Given the description of an element on the screen output the (x, y) to click on. 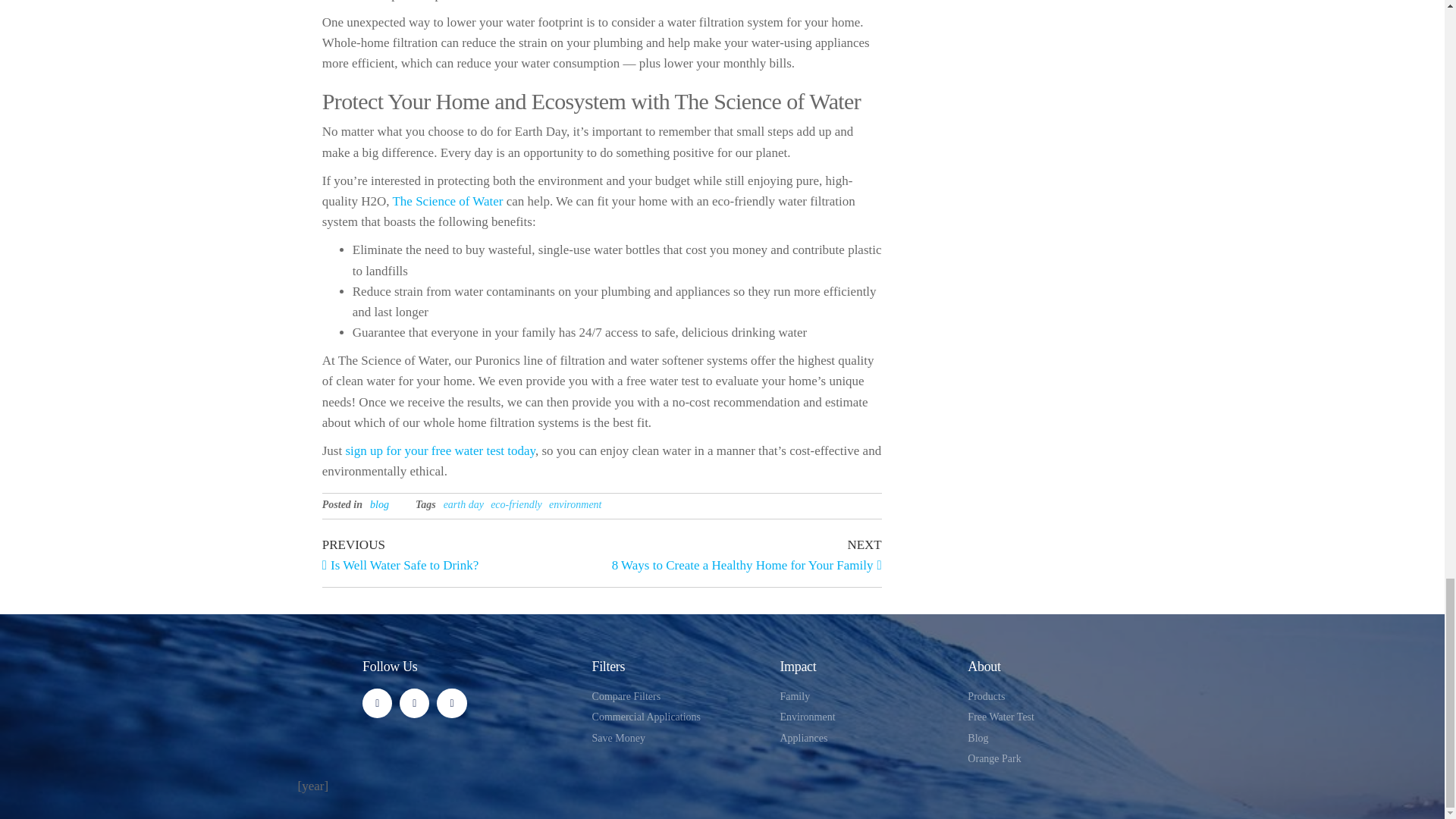
earth day (463, 504)
sign up for your free water test today (440, 450)
Blog (1053, 738)
Family (865, 696)
blog (461, 553)
environment (378, 504)
Commercial Applications (574, 504)
Products (678, 717)
Free Water Test (742, 553)
The Science of Water (1053, 696)
Save Money (1053, 717)
Orange Park (446, 201)
eco-friendly (678, 738)
